Given the description of an element on the screen output the (x, y) to click on. 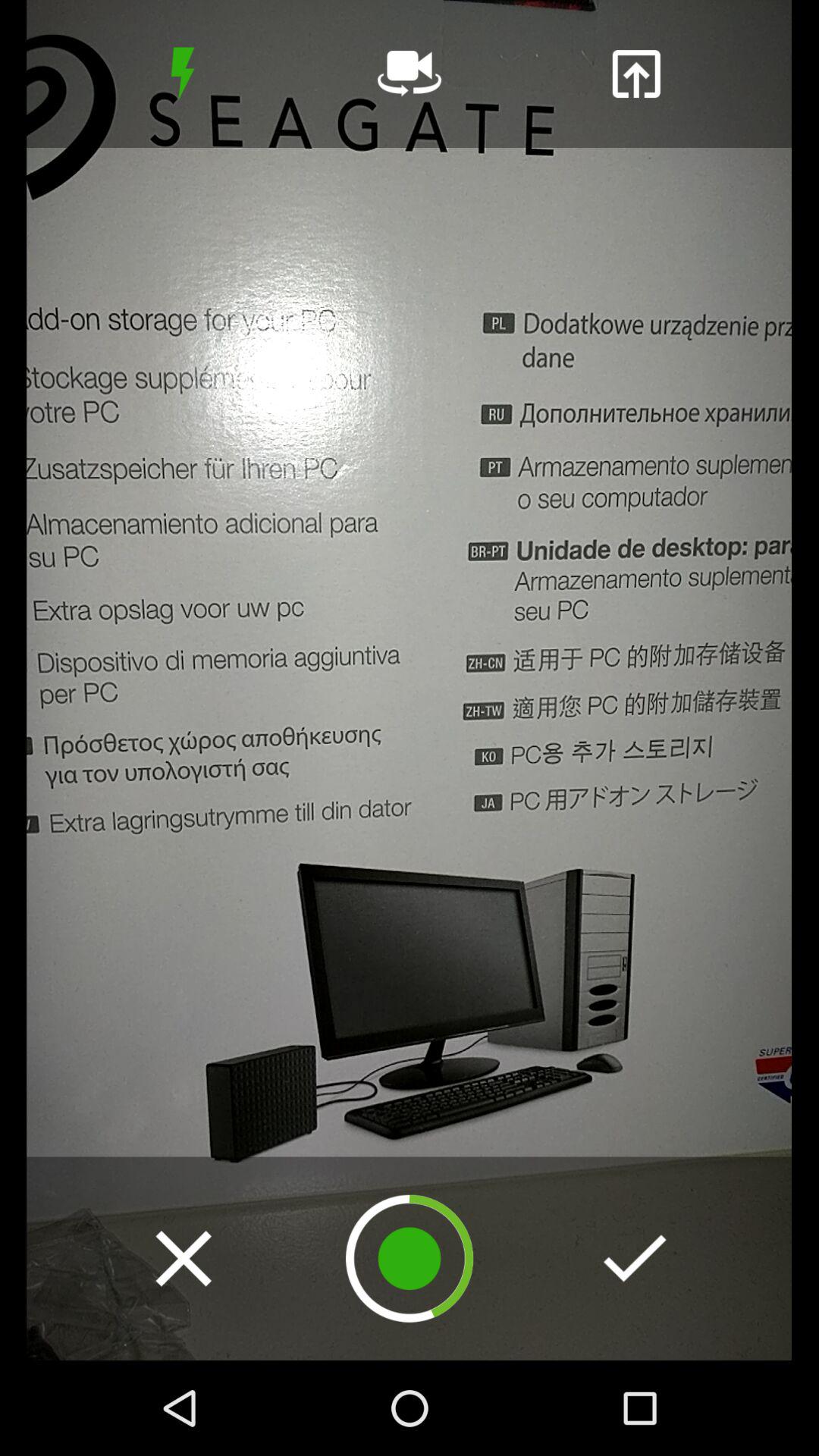
click to confirm upload (634, 1258)
